Given the description of an element on the screen output the (x, y) to click on. 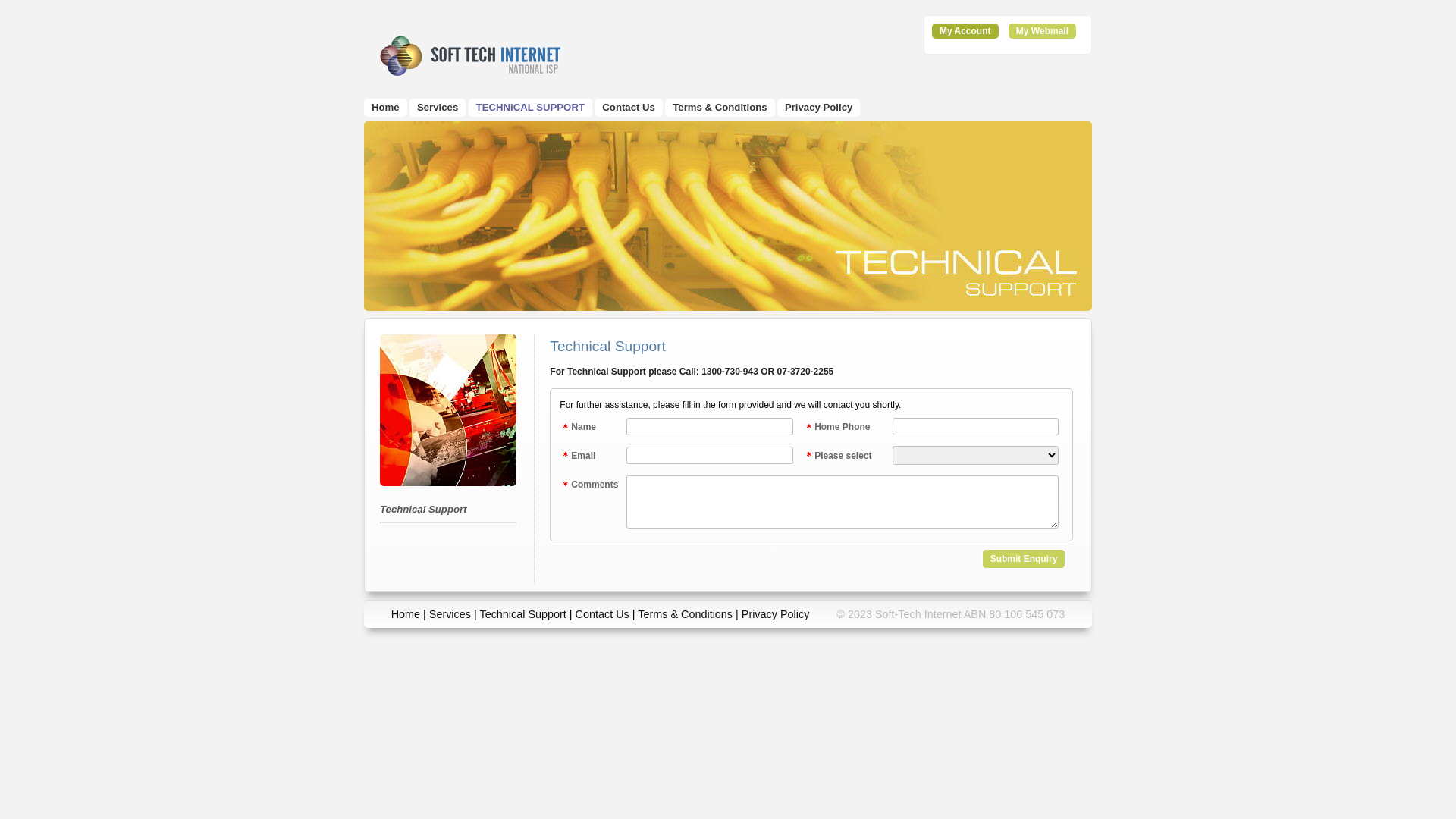
Technical Support Element type: text (522, 614)
Soft-Tech Internet Element type: hover (474, 54)
Terms & Conditions Element type: text (719, 106)
Contact Us Element type: text (602, 614)
Services Element type: text (437, 106)
Home Element type: text (405, 614)
My Account Element type: text (965, 30)
Privacy Policy Element type: text (818, 106)
Home Element type: text (385, 106)
Services Element type: text (449, 614)
Contact Us Element type: text (628, 106)
Privacy Policy Element type: text (775, 614)
TECHNICAL SUPPORT Element type: text (530, 106)
Terms & Conditions | Element type: text (689, 614)
Technical Support Element type: text (423, 508)
My Webmail Element type: text (1042, 30)
